Given the description of an element on the screen output the (x, y) to click on. 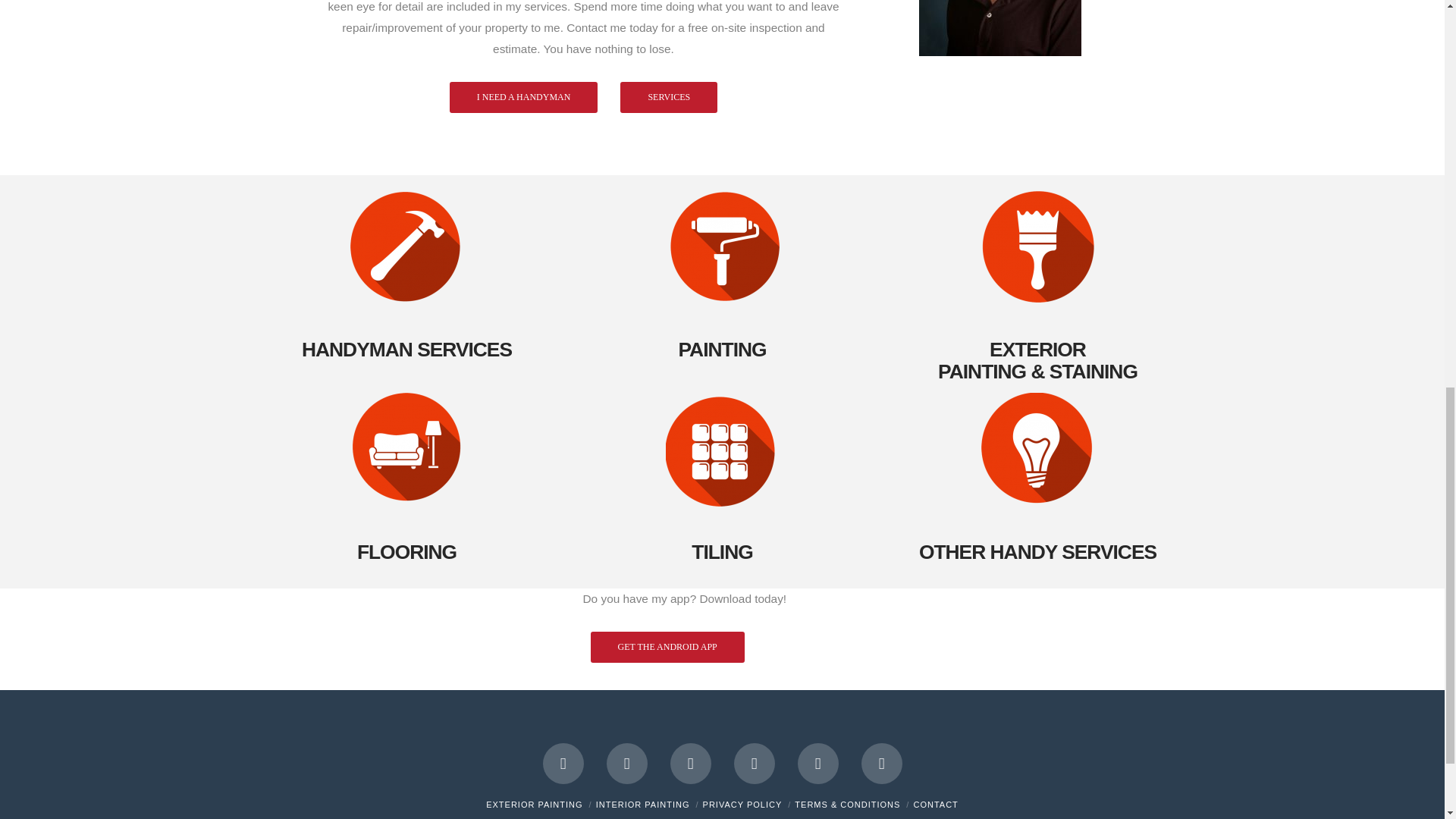
Twitter (627, 762)
YouTube (753, 762)
SERVICES (668, 97)
Facebook (563, 762)
LinkedIn (690, 762)
Instagram (817, 762)
Pinterest (881, 762)
I NEED A HANDYMAN (523, 97)
